Given the description of an element on the screen output the (x, y) to click on. 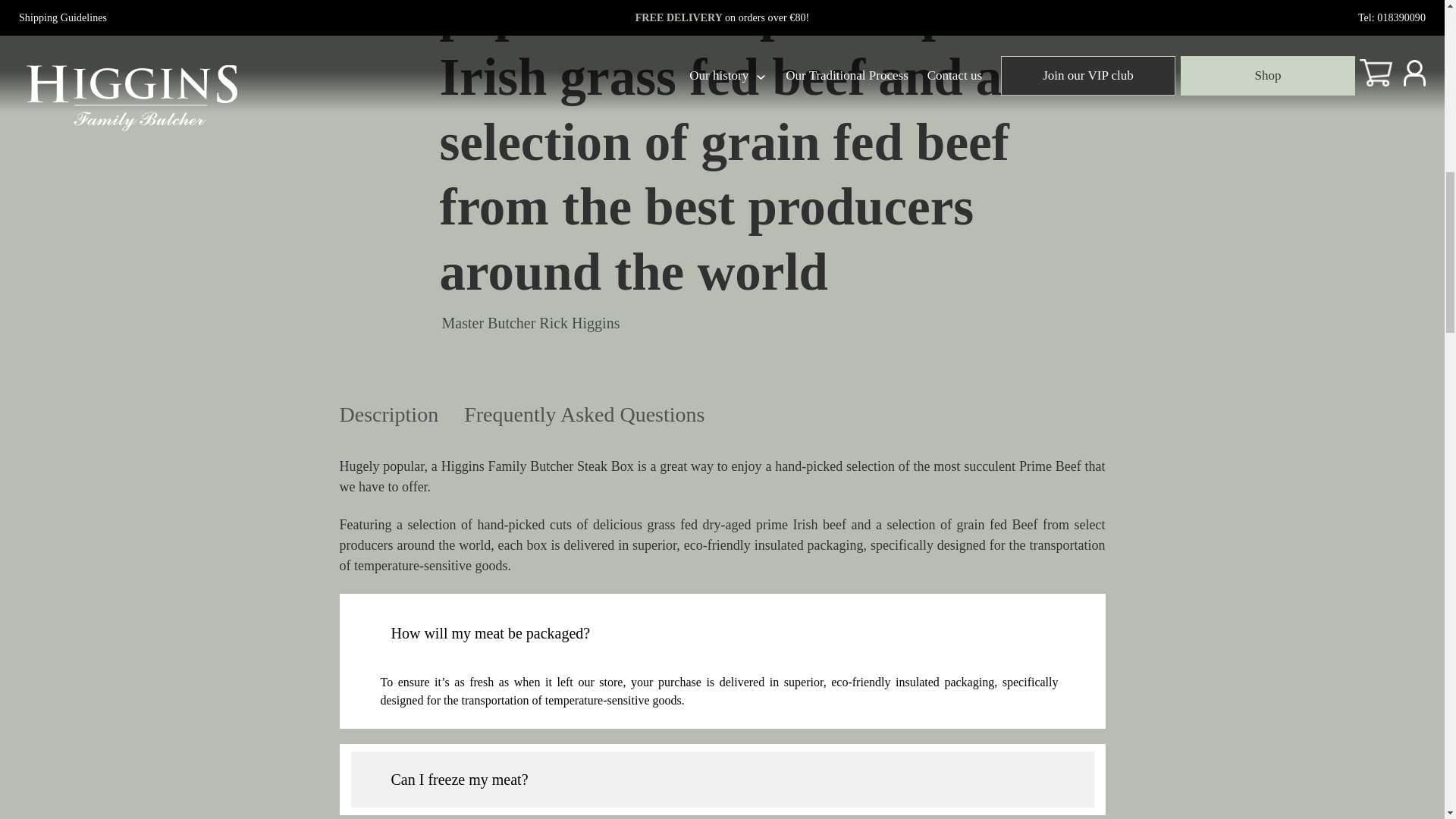
How will my meat be packaged? (721, 627)
Can I freeze my meat? (721, 779)
Frequently Asked Questions (584, 416)
Description (389, 416)
